Given the description of an element on the screen output the (x, y) to click on. 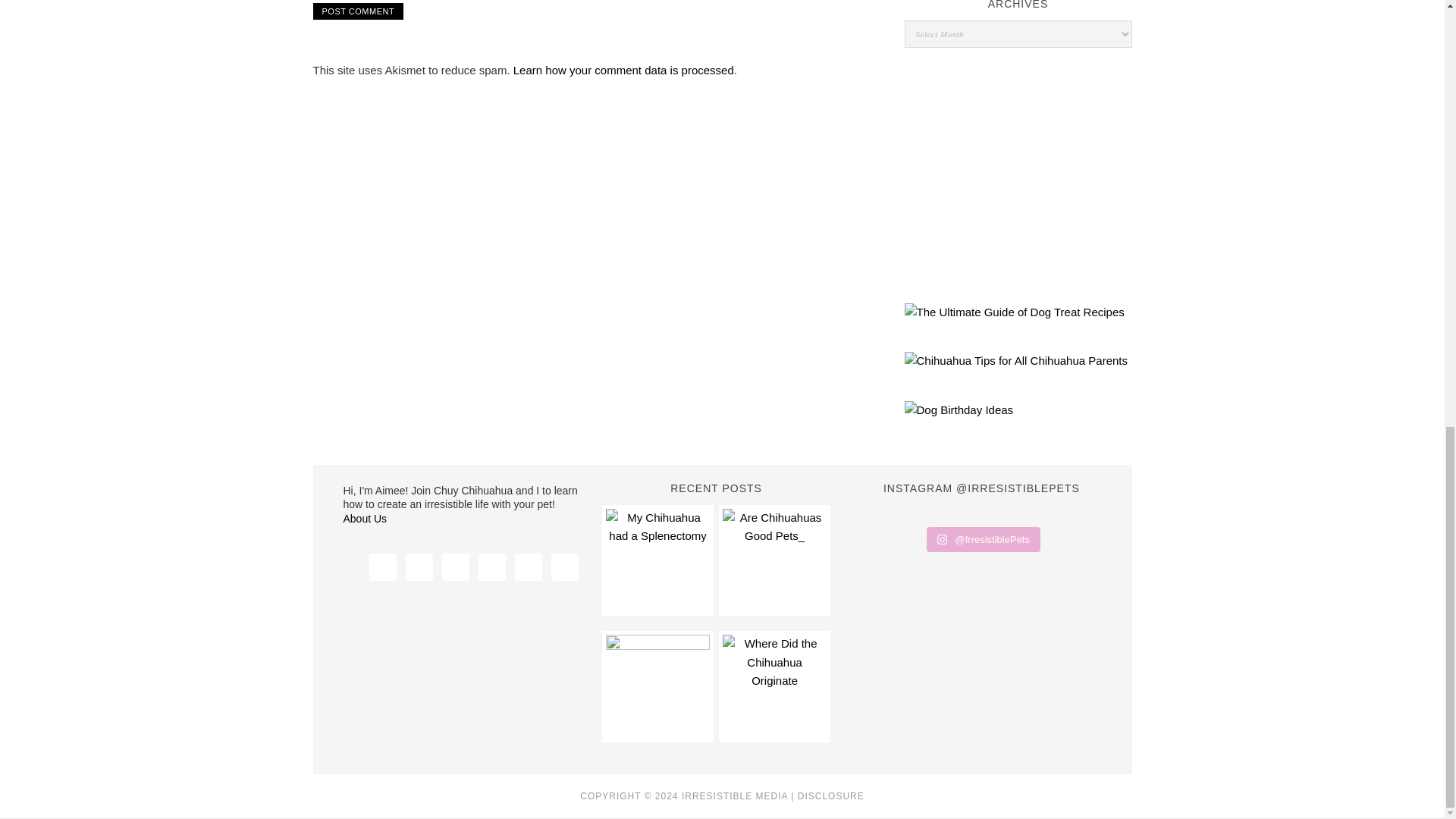
Post Comment (358, 11)
Learn how your comment data is processed (623, 69)
Are Chihuahuas Good Pets? (773, 559)
About Us (364, 518)
Post Comment (358, 11)
My Chihuahua Had a Splenectomy (657, 559)
Where Did the Chihuahua Originate? (773, 685)
